Given the description of an element on the screen output the (x, y) to click on. 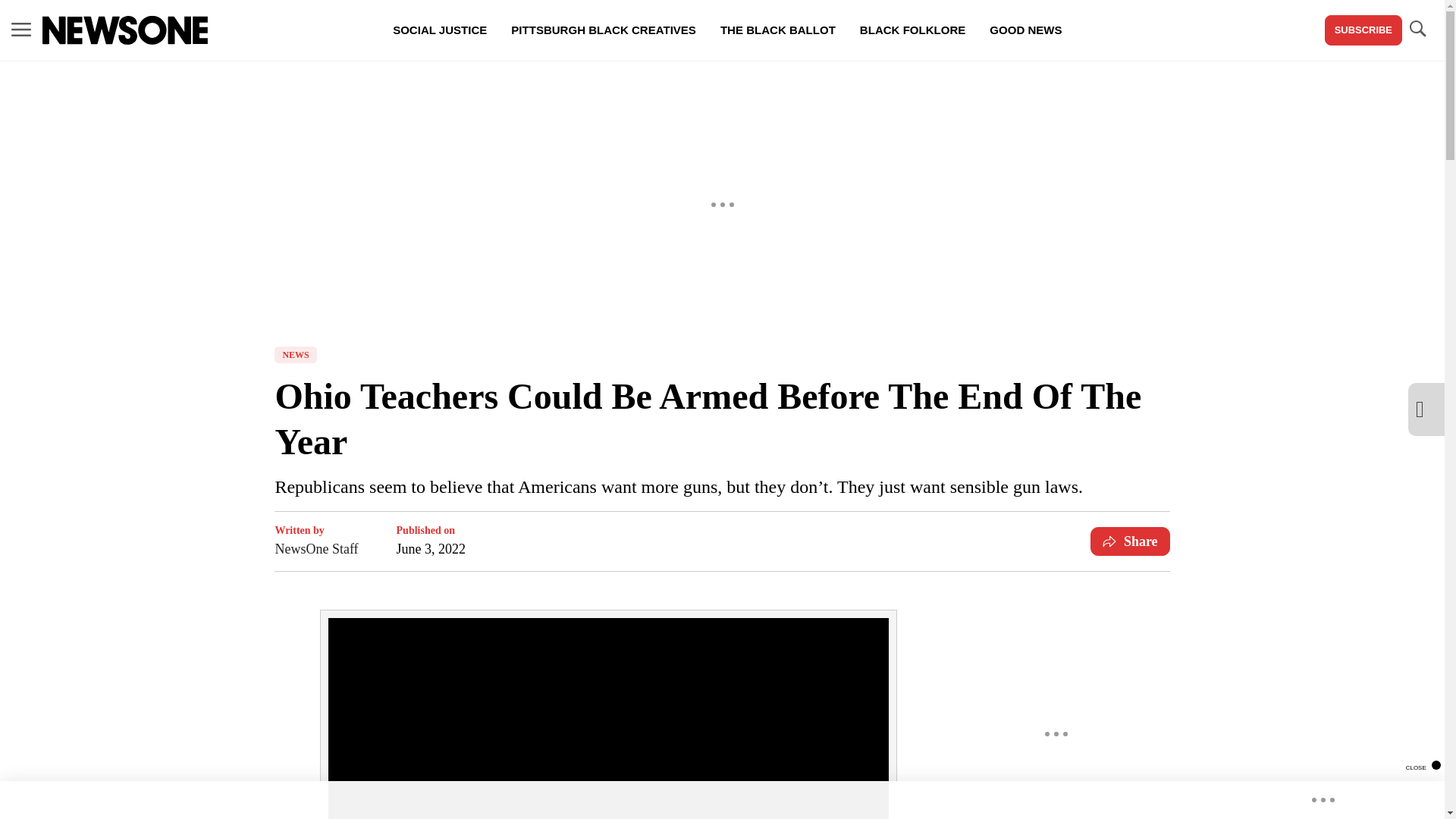
PITTSBURGH BLACK CREATIVES (603, 30)
BLACK FOLKLORE (911, 30)
SOCIAL JUSTICE (439, 30)
NewsOne Staff (316, 548)
SUBSCRIBE (1363, 30)
Share (1130, 541)
MENU (20, 30)
GOOD NEWS (1025, 30)
MENU (20, 29)
THE BLACK BALLOT (777, 30)
TOGGLE SEARCH (1417, 28)
NEWS (295, 354)
TOGGLE SEARCH (1417, 30)
